Given the description of an element on the screen output the (x, y) to click on. 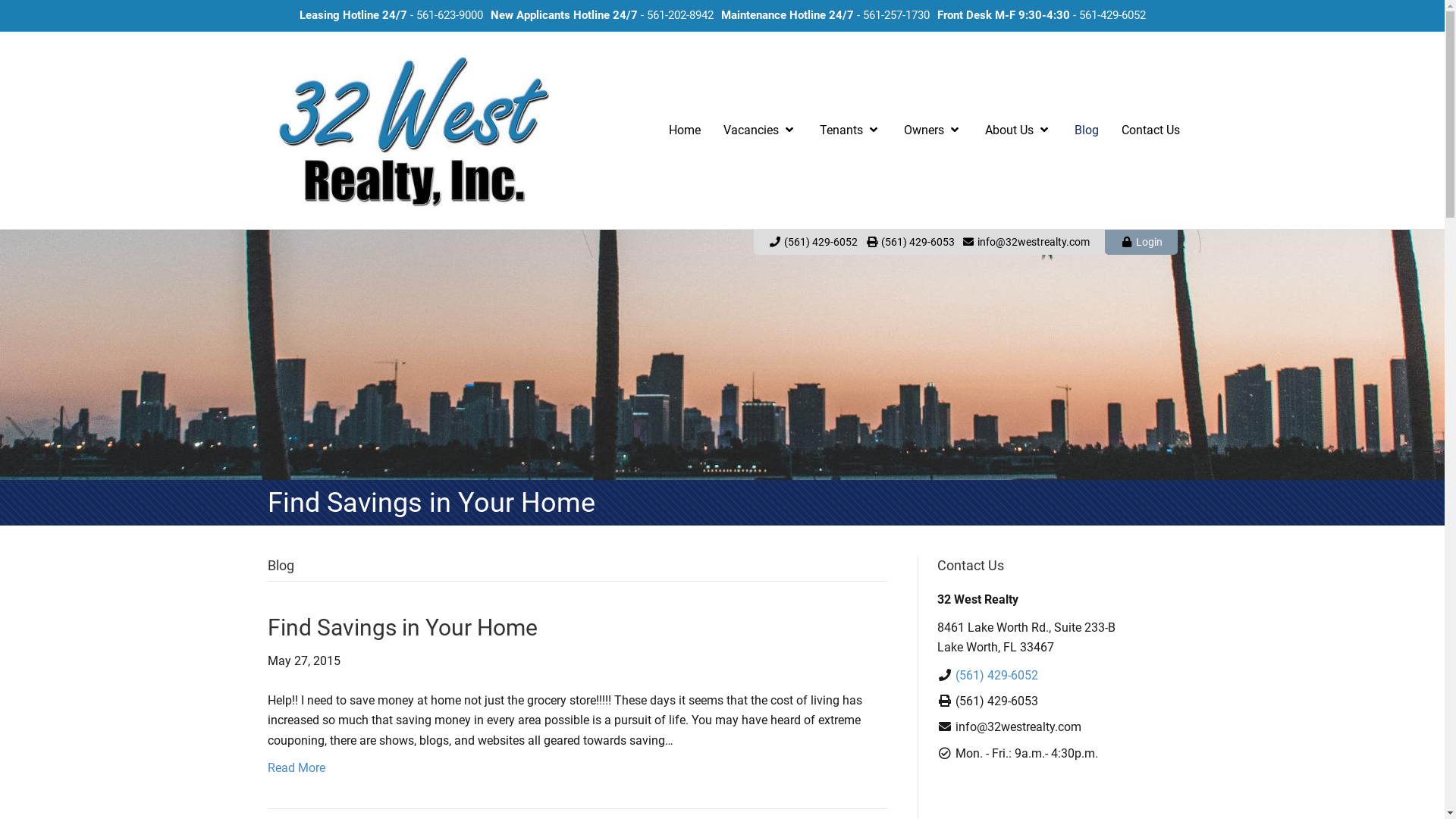
Contact Us Element type: text (1150, 130)
561-202-8942 Element type: text (679, 14)
Home Element type: text (683, 130)
Blog Element type: text (1086, 130)
Read More Element type: text (295, 767)
(561) 429-6052 Element type: text (996, 675)
About Us Element type: text (1018, 130)
Find Savings in Your Home Element type: text (401, 627)
561-257-1730 Element type: text (895, 14)
561-623-9000 Element type: text (448, 14)
Tenants Element type: text (850, 130)
Owners Element type: text (931, 130)
561-429-6052 Element type: text (1111, 14)
Vacancies Element type: text (759, 130)
